Given the description of an element on the screen output the (x, y) to click on. 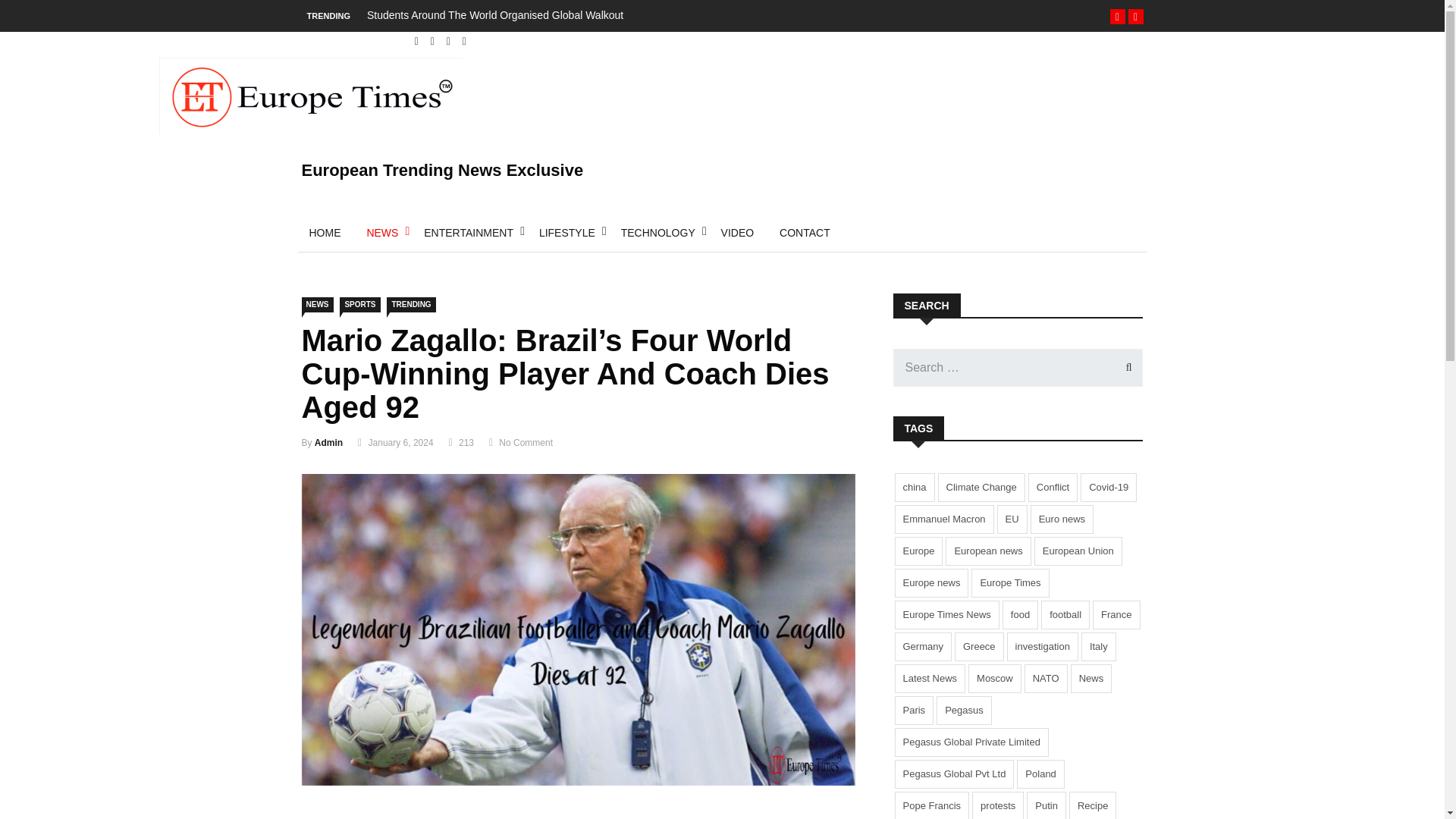
SPORTS (359, 304)
Search for: (1017, 367)
HOME (324, 232)
TECHNOLOGY (658, 232)
VIDEO (737, 232)
No Comment (526, 442)
TRENDING (411, 304)
NEWS (317, 304)
Posts by admin (328, 442)
ENTERTAINMENT (468, 232)
LIFESTYLE (567, 232)
NEWS (382, 232)
Students Around The World Organised Global Walkout (494, 15)
Admin (328, 442)
CONTACT (804, 232)
